Given the description of an element on the screen output the (x, y) to click on. 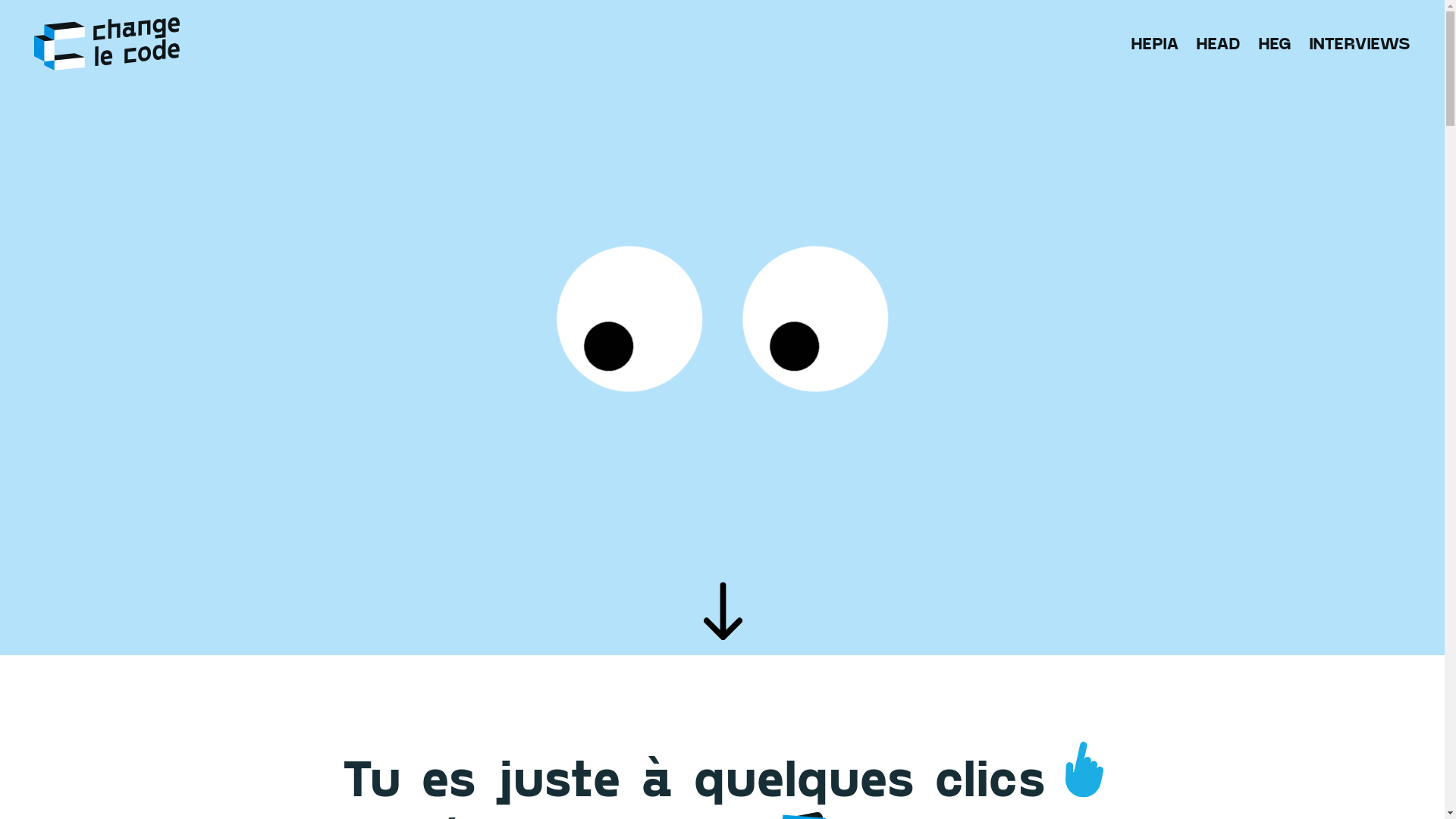
HEAD Element type: text (1217, 43)
HEPIA Element type: text (1154, 43)
HEG Element type: text (1274, 43)
INTERVIEWS Element type: text (1359, 43)
HES-so Element type: text (106, 44)
